Given the description of an element on the screen output the (x, y) to click on. 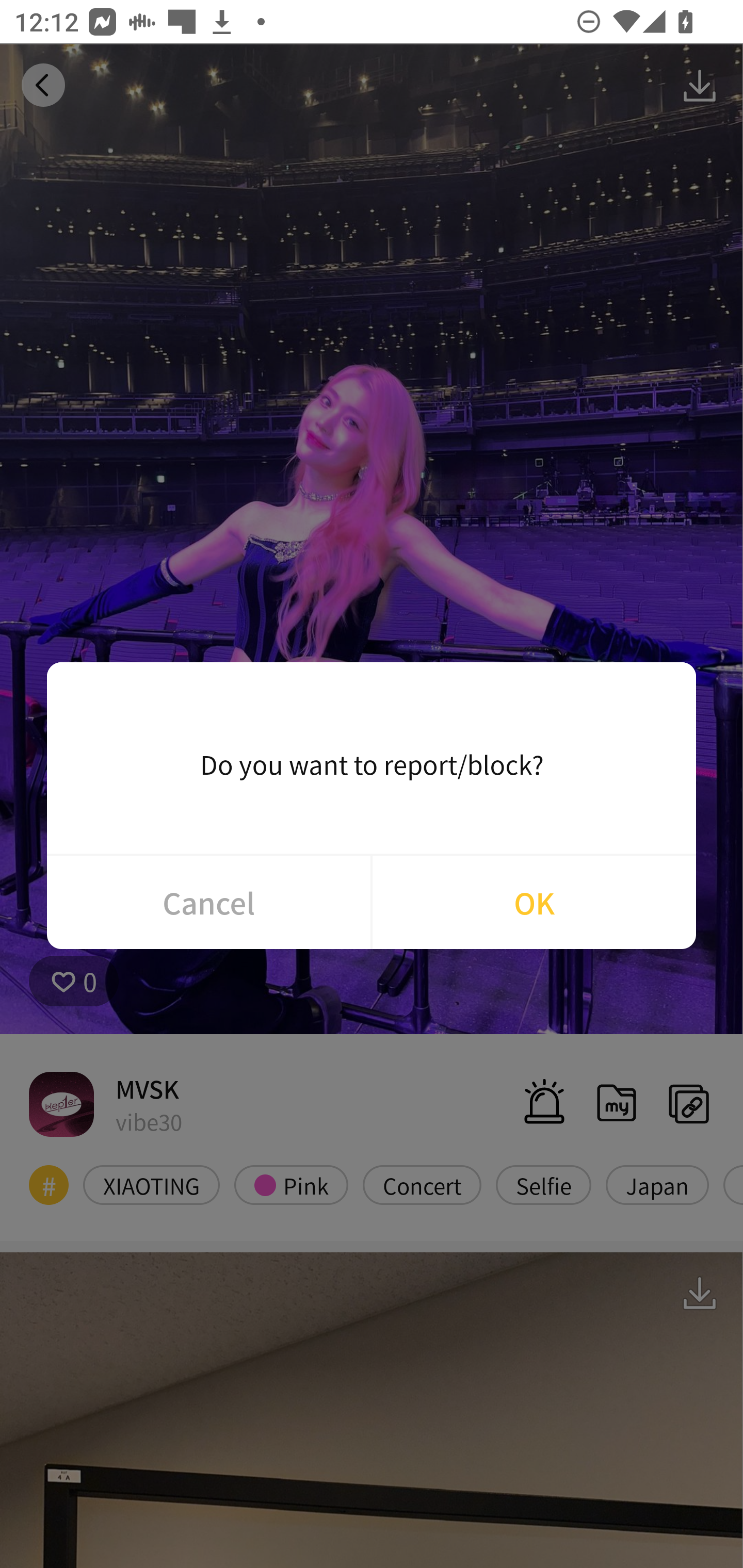
Cancel (208, 902)
OK (534, 902)
